Given the description of an element on the screen output the (x, y) to click on. 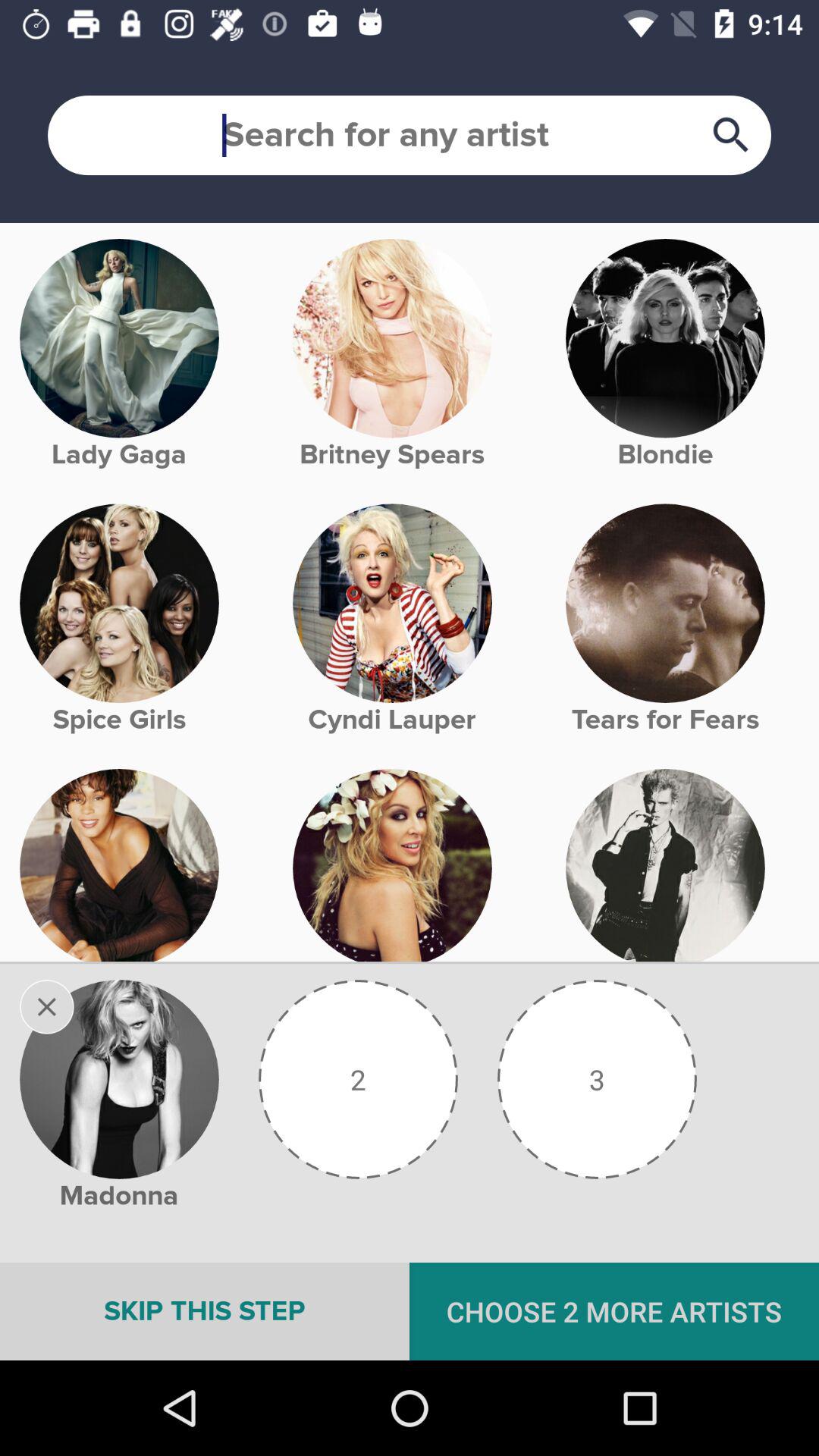
tap the icon next to choose 2 more icon (204, 1311)
